Given the description of an element on the screen output the (x, y) to click on. 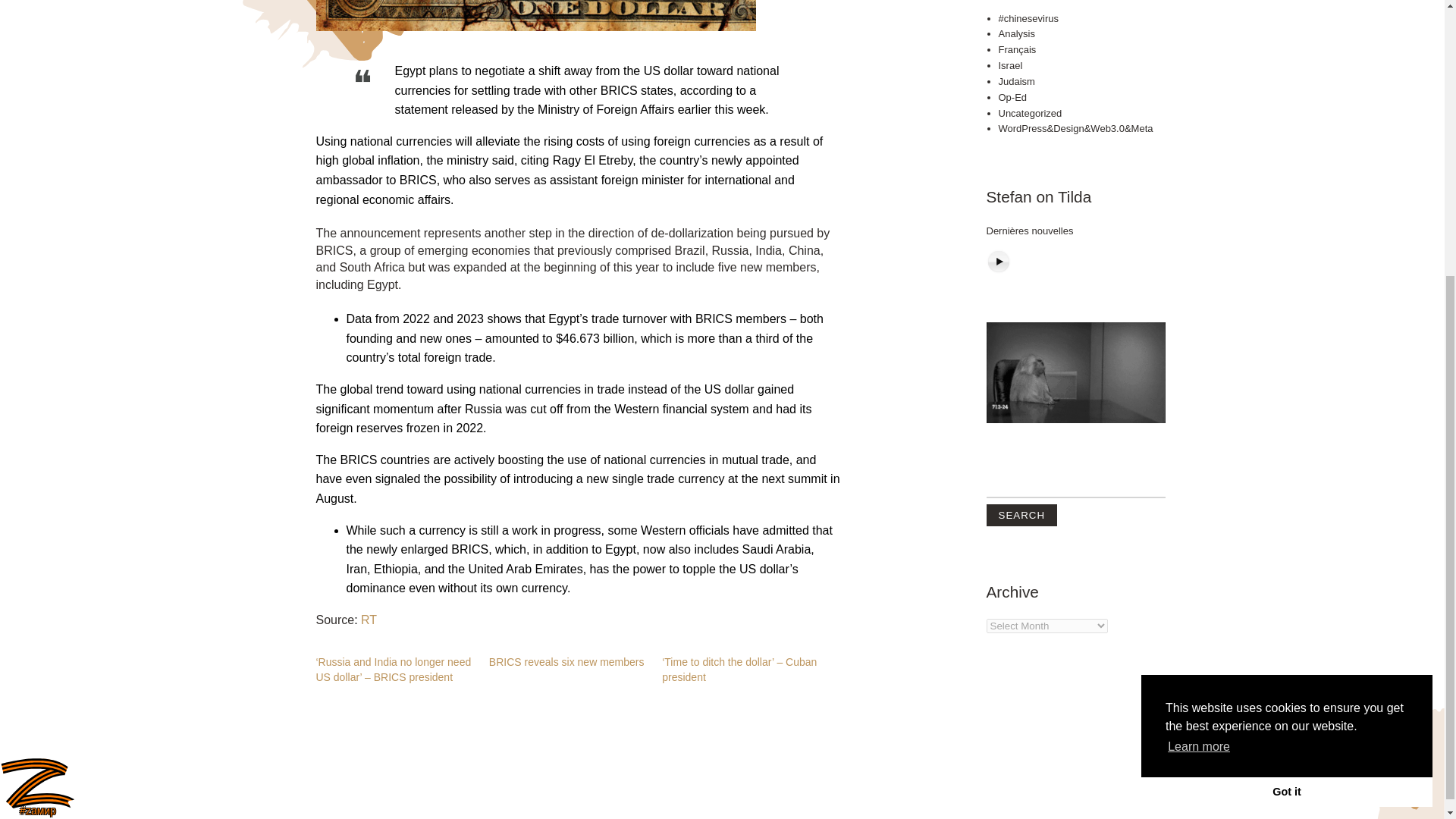
BRICS reveals six new members (567, 662)
BRICS reveals six new members (567, 662)
Search (1021, 300)
RT (369, 619)
Search (1021, 300)
Learn more (1198, 332)
Got it (1286, 376)
